Given the description of an element on the screen output the (x, y) to click on. 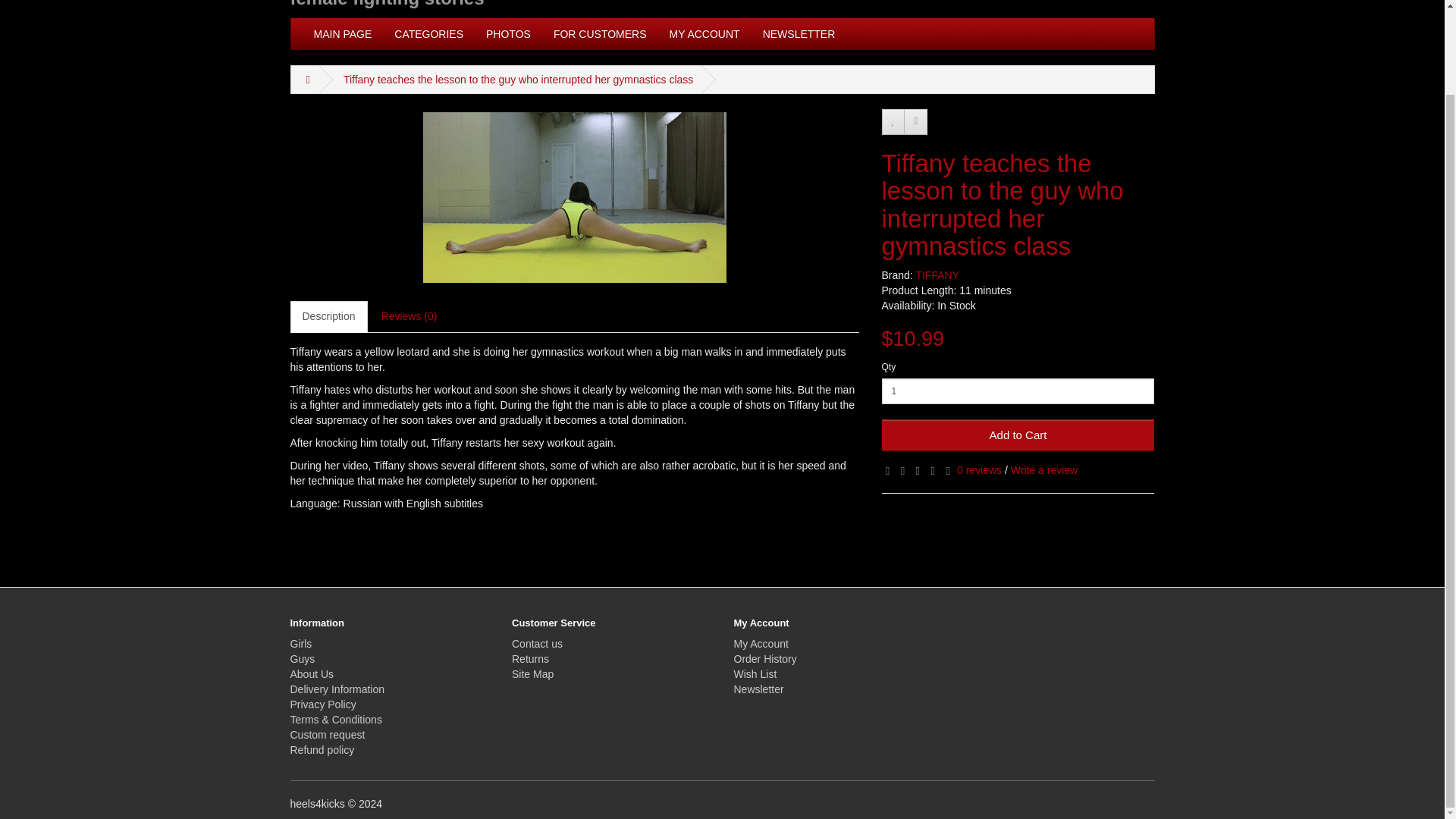
MAIN PAGE (341, 33)
CATEGORIES (428, 33)
1 (1017, 391)
